Given the description of an element on the screen output the (x, y) to click on. 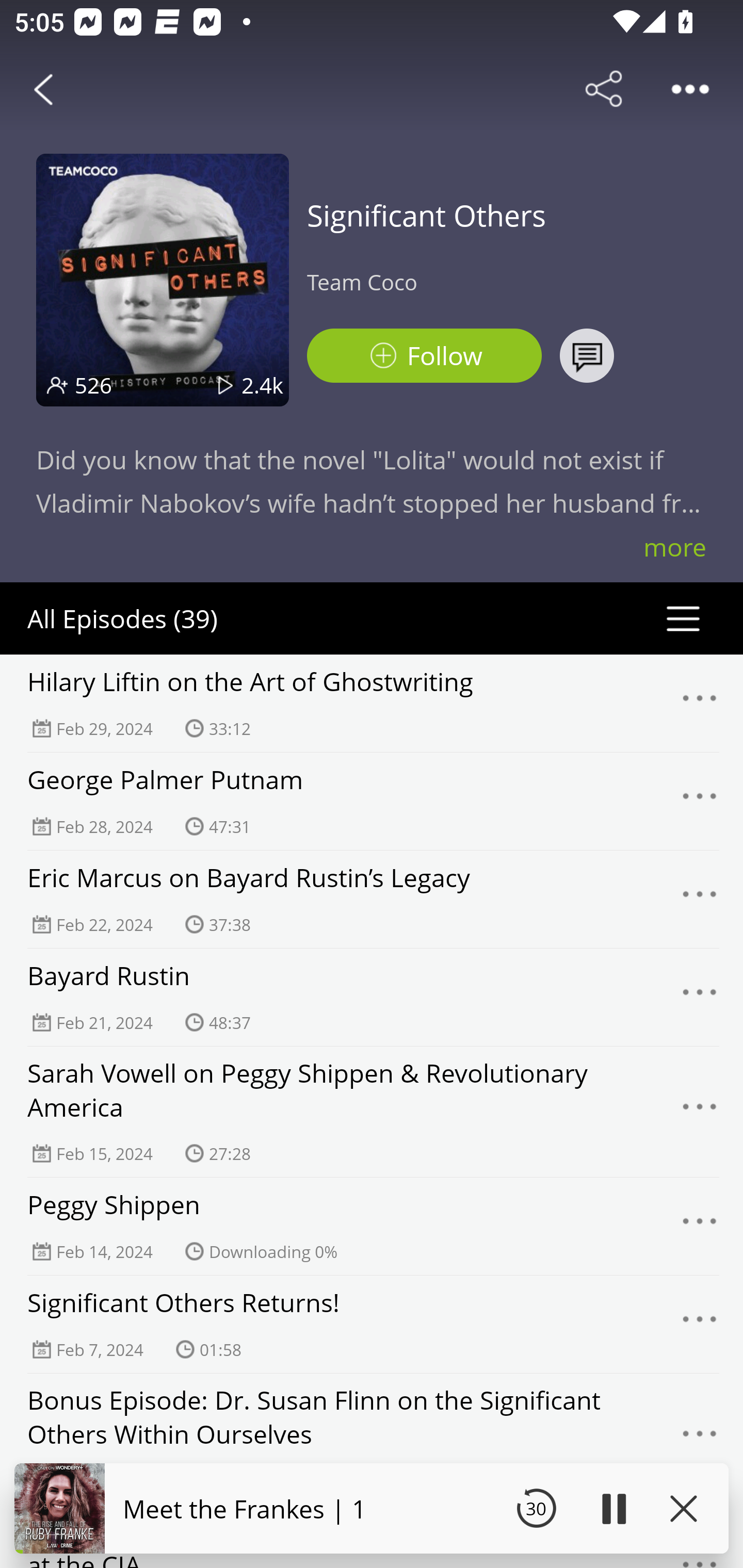
Back (43, 88)
Podbean Follow (423, 355)
526 (93, 384)
more (674, 546)
Menu (699, 703)
George Palmer Putnam Feb 28, 2024 47:31 Menu (371, 800)
Menu (699, 801)
Menu (699, 899)
Bayard Rustin Feb 21, 2024 48:37 Menu (371, 996)
Menu (699, 997)
Menu (699, 1112)
Peggy Shippen Feb 14, 2024 Downloading 0% Menu (371, 1225)
Menu (699, 1226)
Significant Others Returns! Feb 7, 2024 01:58 Menu (371, 1323)
Menu (699, 1324)
Menu (699, 1438)
Meet the Frankes | 1 30 Seek Backward 23942.0 Play (371, 1508)
Play (613, 1507)
30 Seek Backward (536, 1508)
